Given the description of an element on the screen output the (x, y) to click on. 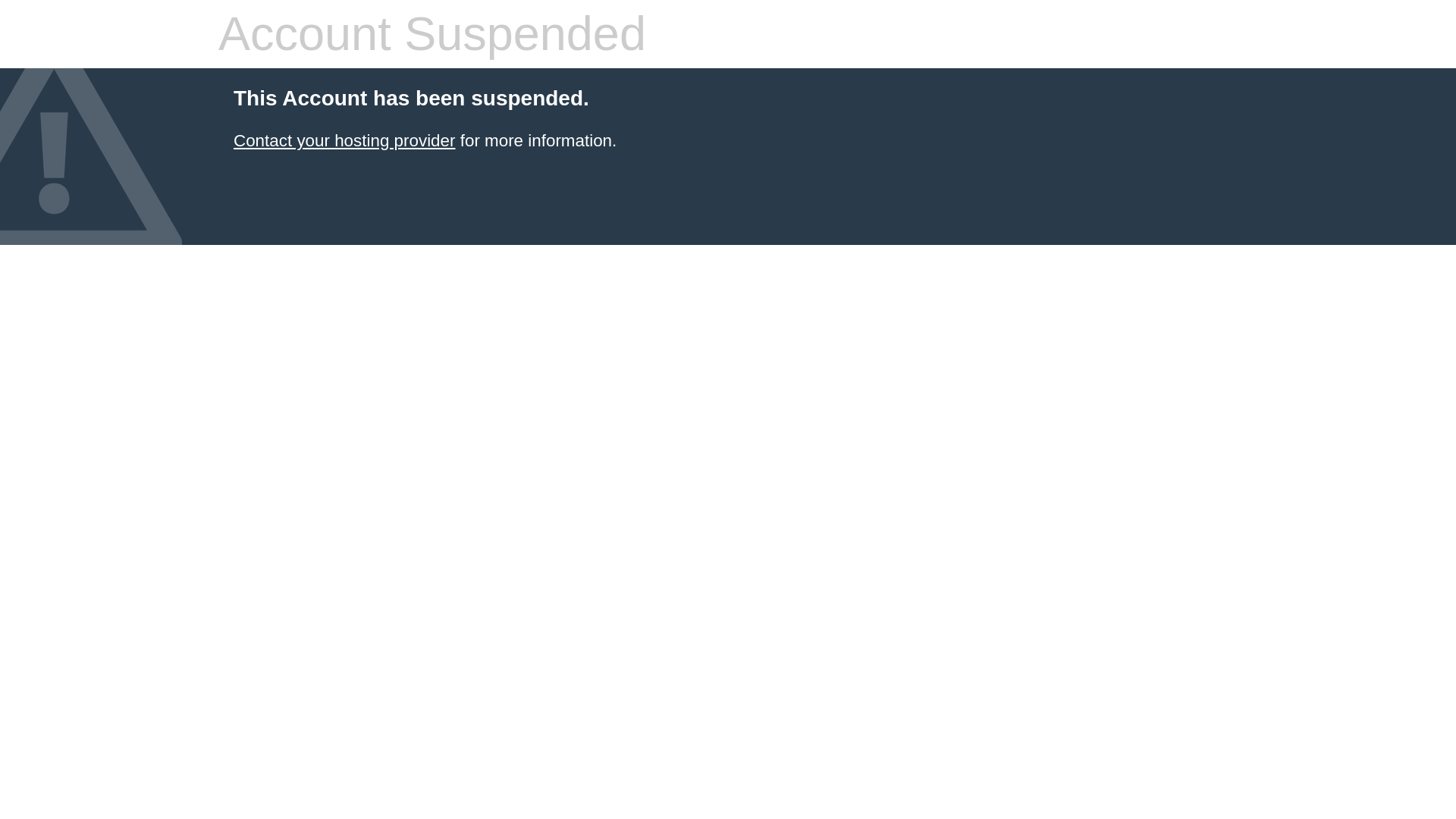
Contact your hosting provider (343, 140)
